Given the description of an element on the screen output the (x, y) to click on. 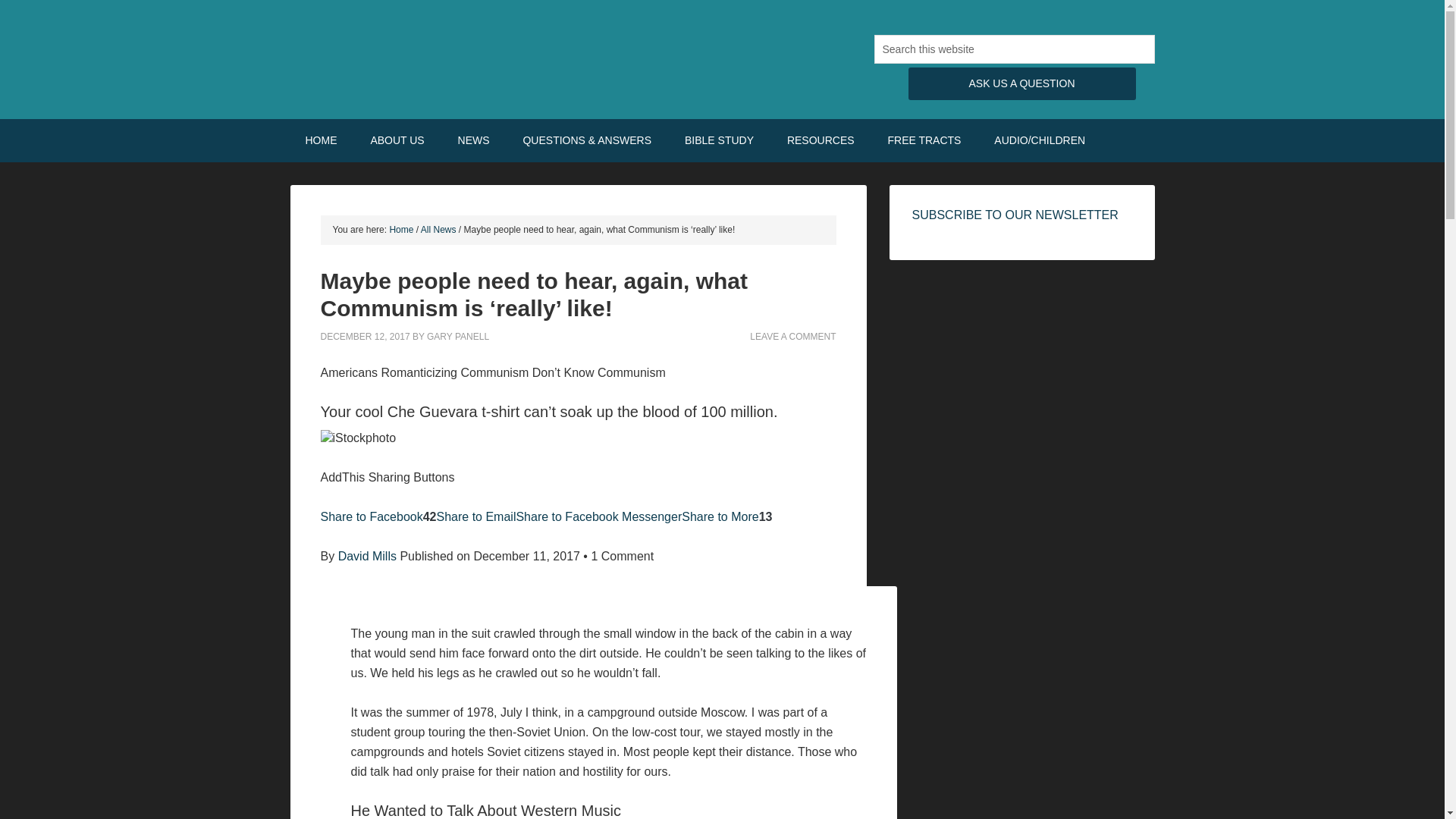
ABOUT US (397, 140)
Share to Email (476, 516)
RESOURCES (820, 140)
All News (438, 229)
BIBLE CHRISTIAN (418, 52)
NEWS (473, 140)
Share to More (719, 516)
FREE TRACTS (923, 140)
BIBLE STUDY (718, 140)
ASK US A QUESTION (1021, 83)
David Mills (366, 555)
LEAVE A COMMENT (792, 336)
Home (400, 229)
